Given the description of an element on the screen output the (x, y) to click on. 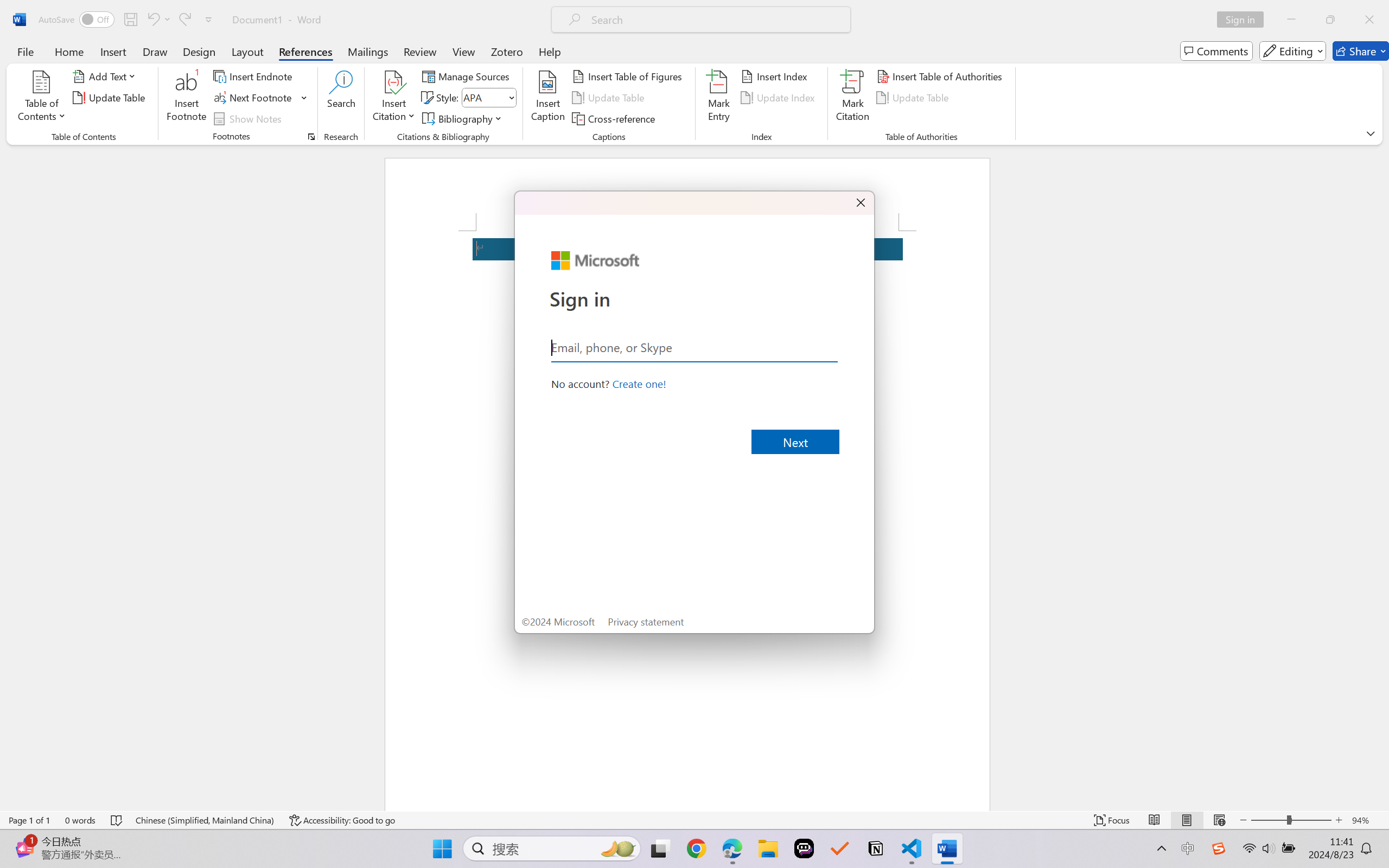
Insert Footnote (186, 97)
Update Table (914, 97)
Style (488, 97)
Sign in (1244, 19)
Update Table... (110, 97)
